Given the description of an element on the screen output the (x, y) to click on. 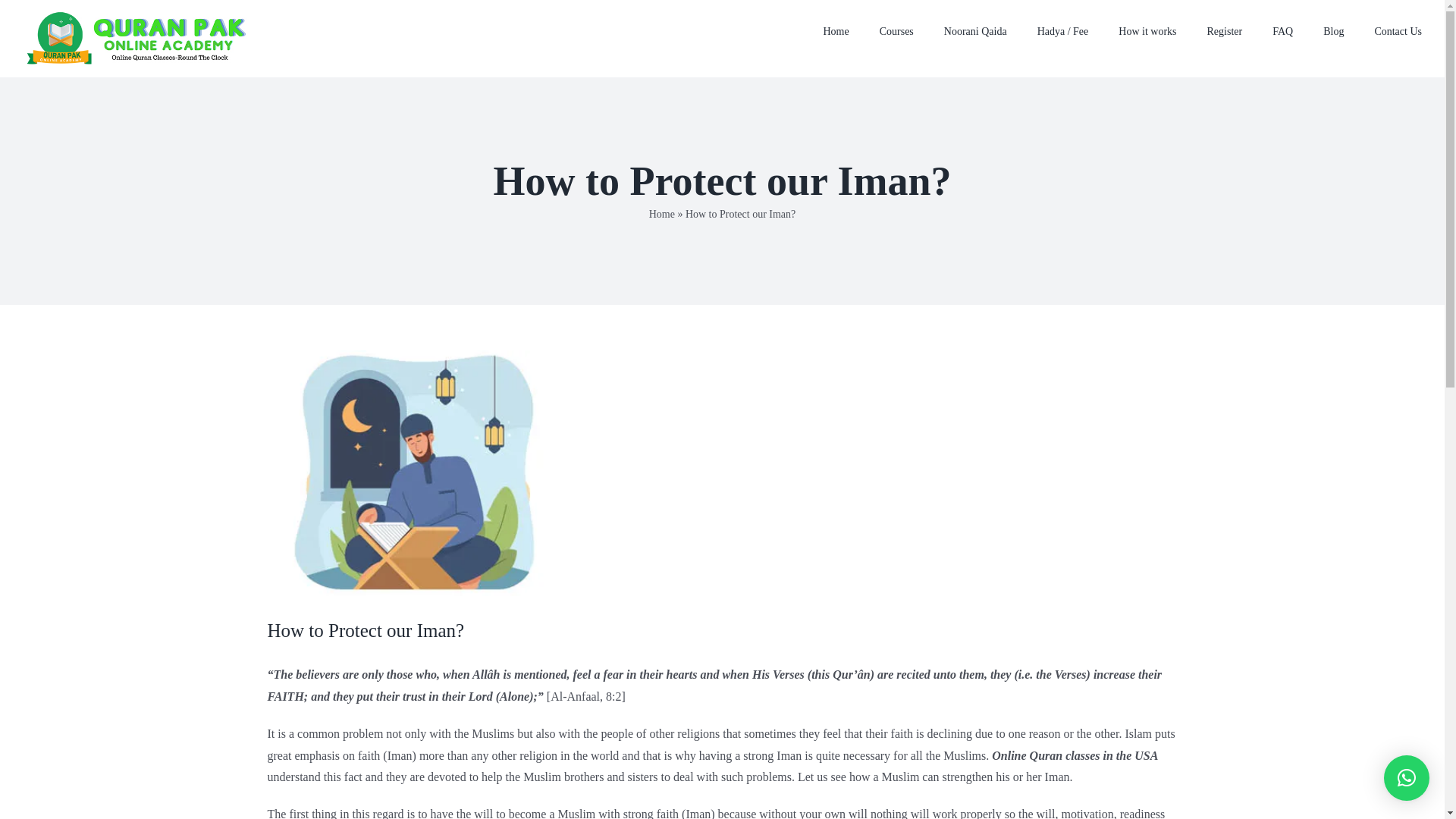
Noorani Qaida (975, 31)
How it works (1147, 31)
Home (662, 214)
